Given the description of an element on the screen output the (x, y) to click on. 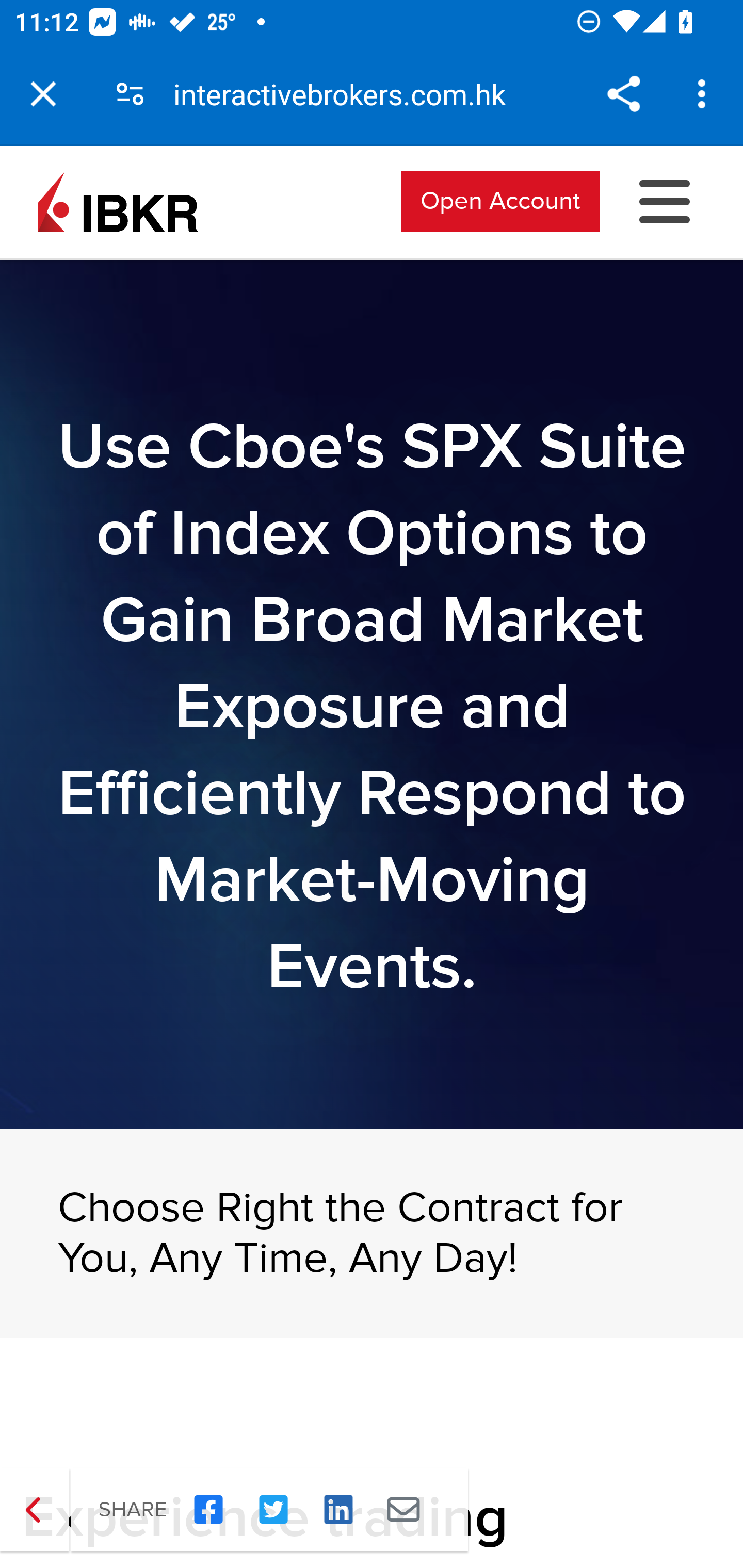
Close tab (43, 93)
Share (623, 93)
Customize and control Google Chrome (705, 93)
Connection is secure (129, 93)
interactivebrokers.com.hk (346, 93)
Interactive Brokers Home (117, 200)
Open Account (500, 200)
Toggle Navigation (665, 200)
Share on Facebook  (208, 1509)
Share on Twitter  (272, 1509)
Share on Linkedin  (338, 1509)
Share by Email  (403, 1509)
